Given the description of an element on the screen output the (x, y) to click on. 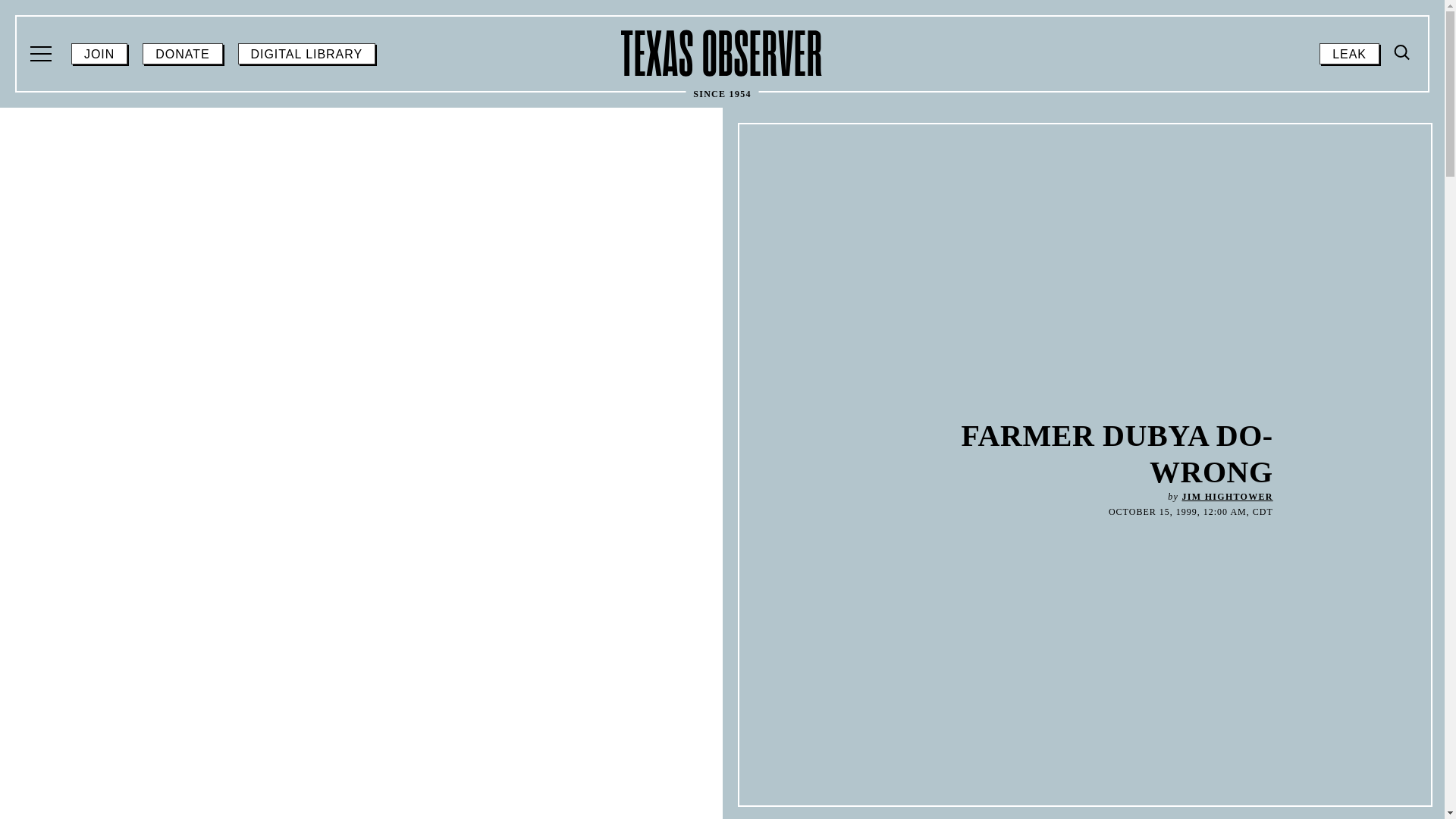
LEAK (1402, 53)
The Texas Observer (1348, 53)
JOIN (721, 53)
Posts by Jim Hightower (99, 53)
DIGITAL LIBRARY (1227, 496)
Toggle Menu (306, 53)
DONATE (42, 53)
SEARCH (182, 53)
Search icon (1400, 179)
